Given the description of an element on the screen output the (x, y) to click on. 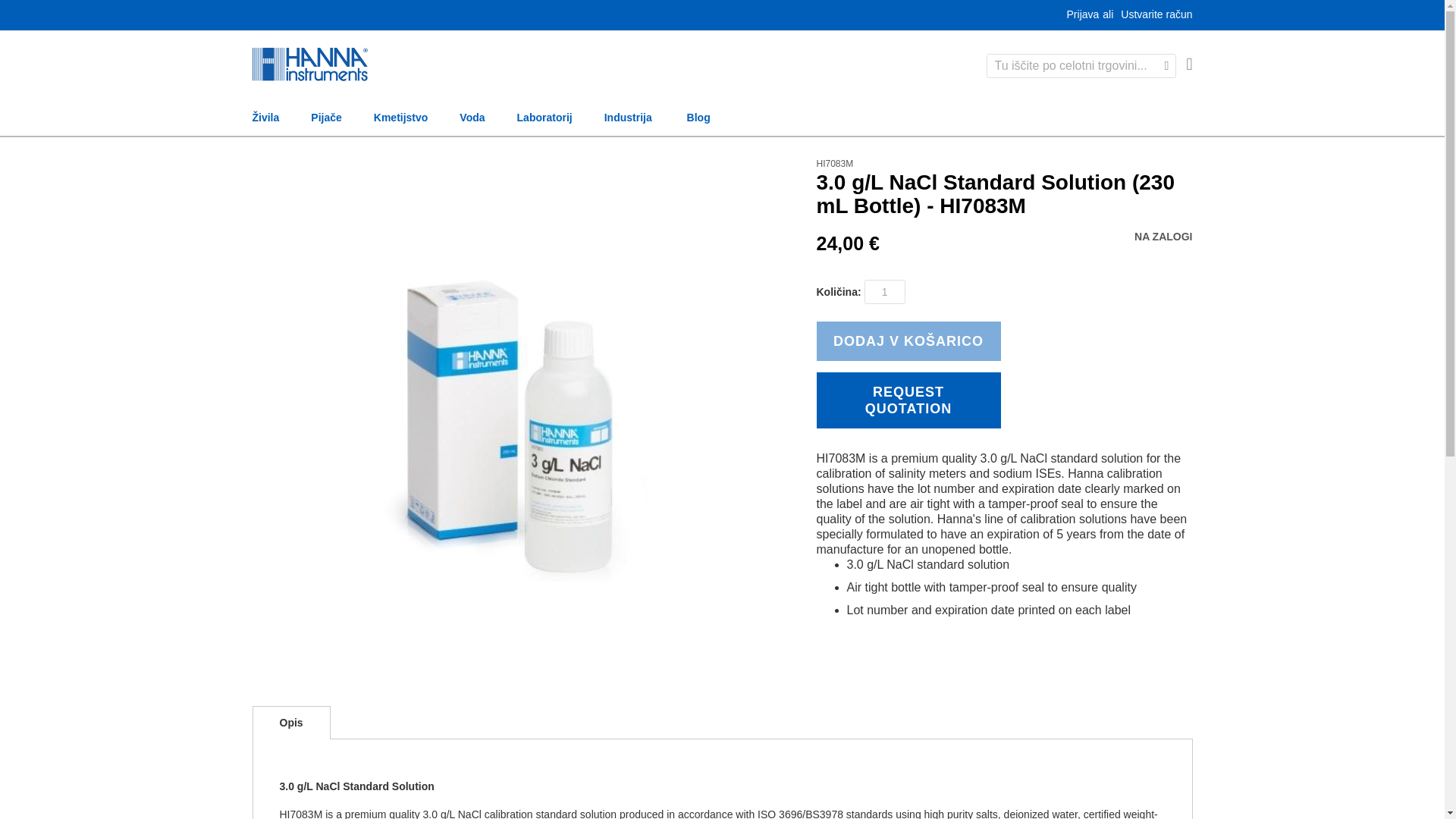
1 (884, 291)
Request Quotation (907, 400)
Prijava (1083, 14)
